Given the description of an element on the screen output the (x, y) to click on. 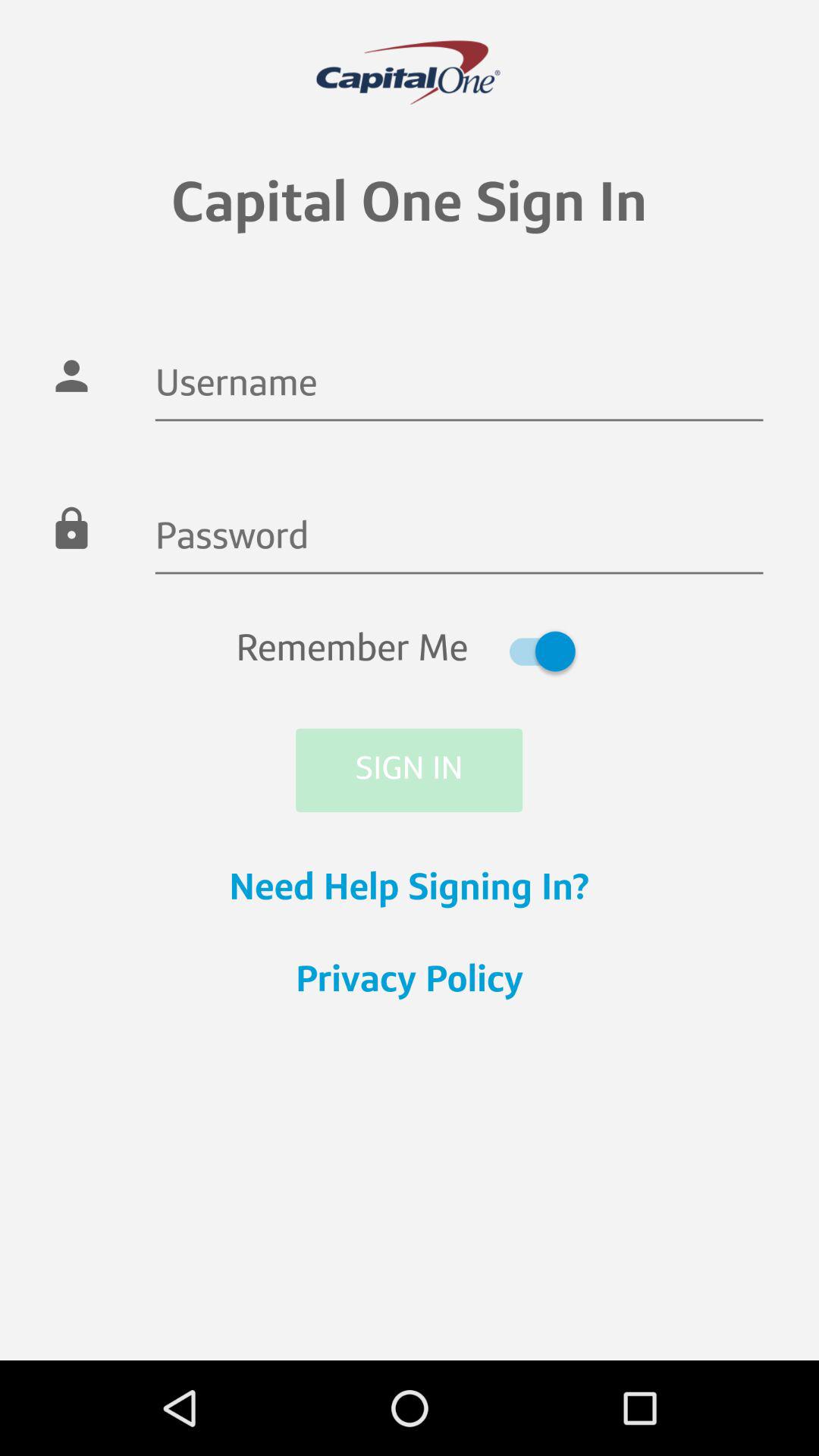
launch the icon below capital one sign item (459, 386)
